Given the description of an element on the screen output the (x, y) to click on. 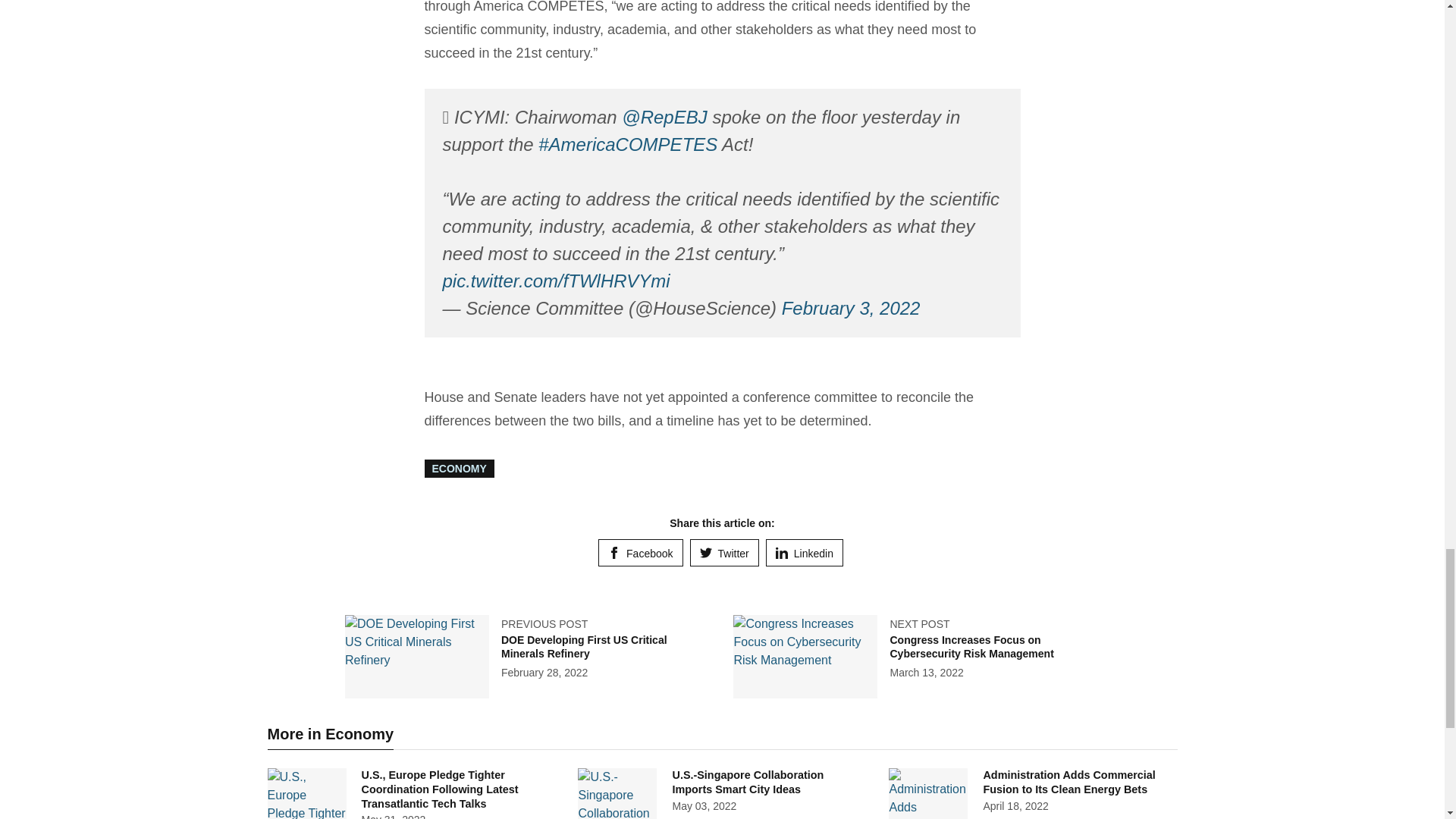
03 May, 2022 (703, 806)
NEXT POST (919, 623)
Linkedin (804, 552)
31 May, 2022 (393, 816)
ECONOMY (460, 468)
13 March, 2022 (925, 672)
Facebook (640, 552)
Share on Twitter (724, 552)
PREVIOUS POST (544, 623)
February 3, 2022 (850, 308)
DOE Developing First US Critical Minerals Refinery (583, 646)
28 February, 2022 (544, 672)
18 April, 2022 (1015, 806)
Share on Facebook (640, 552)
Share on Linkedin (804, 552)
